Given the description of an element on the screen output the (x, y) to click on. 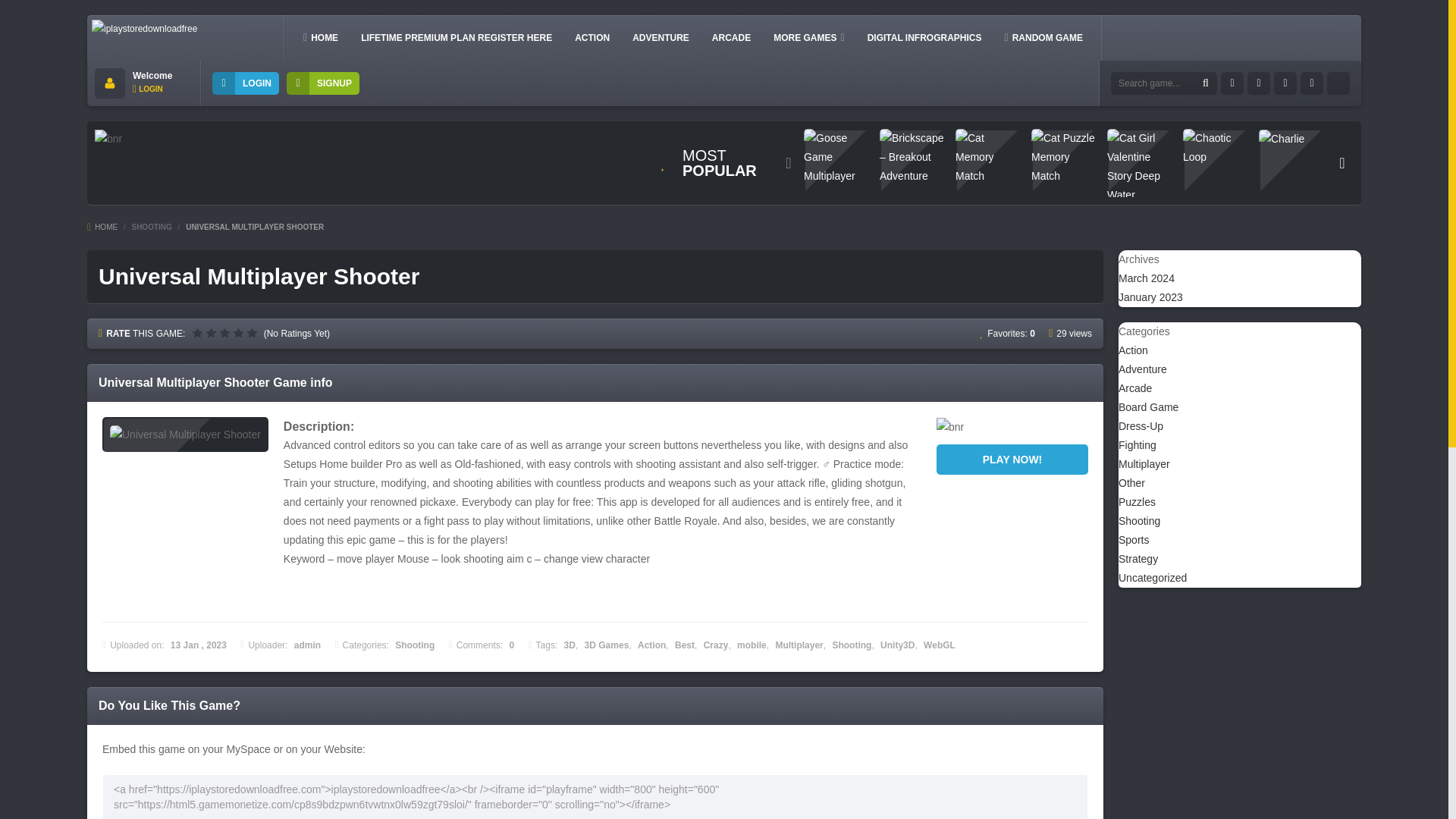
Instagram (1285, 83)
MORE GAMES (808, 37)
ARCADE (731, 37)
SIGNUP (322, 83)
ACTION (592, 37)
Feed (1311, 83)
Twitter (1258, 83)
LOGIN (147, 89)
Search (1205, 83)
LOGIN (245, 83)
